Given the description of an element on the screen output the (x, y) to click on. 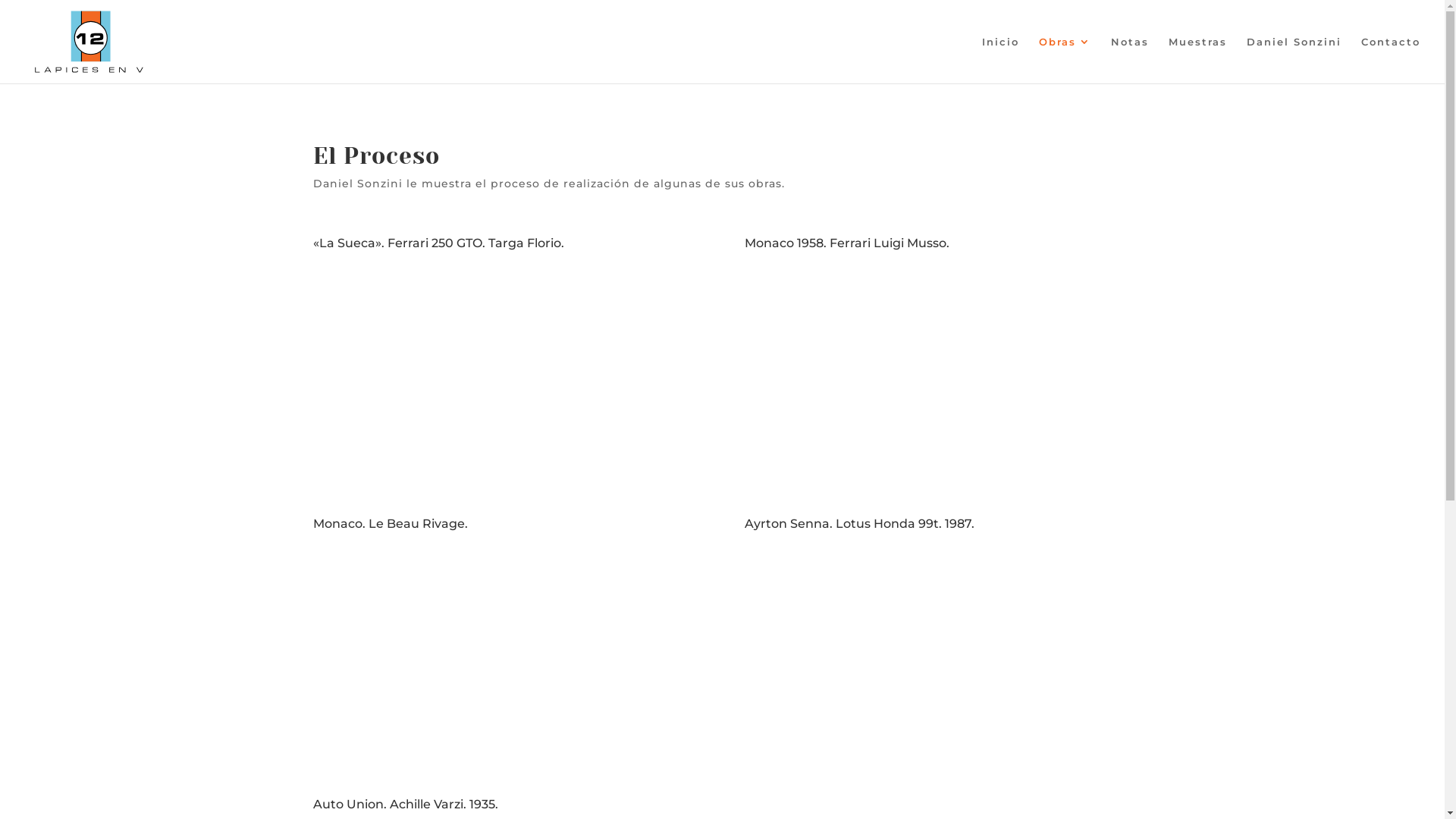
"La Sueca" - Ferrari 250 GTO - Targa Florio - Daniel Sonzini Element type: hover (505, 367)
Inicio Element type: text (1000, 59)
Contacto Element type: text (1390, 59)
Monaco, 1958. Ferrari Luigi Musso. Acuarela - Daniel Sonzini Element type: hover (937, 367)
Obras Element type: text (1064, 59)
Muestras Element type: text (1197, 59)
Daniel Sonzini Element type: text (1293, 59)
Notas Element type: text (1129, 59)
